Given the description of an element on the screen output the (x, y) to click on. 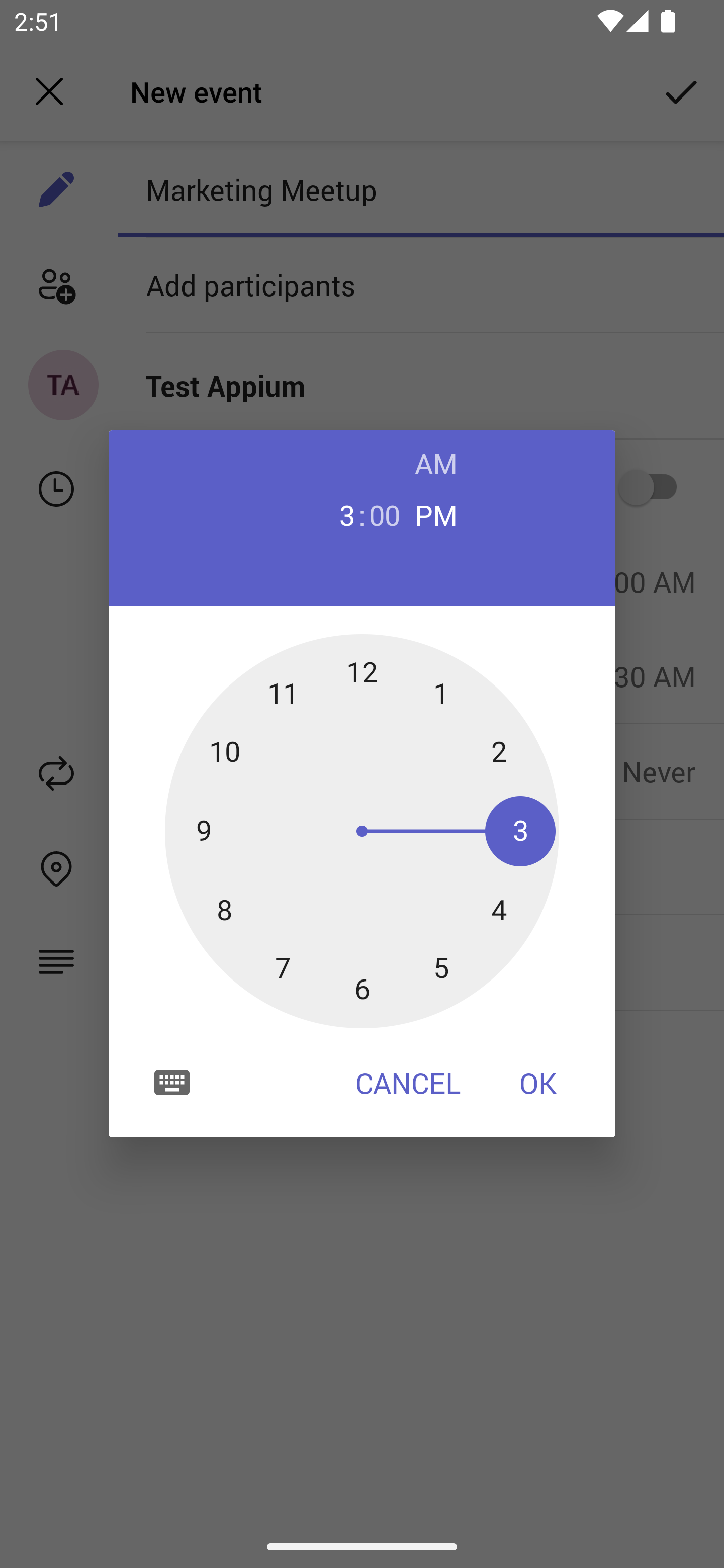
AM (435, 463)
PM (435, 514)
3 (338, 514)
00 (384, 514)
CANCEL (407, 1082)
OK (537, 1082)
Switch to text input mode for the time input. (171, 1081)
